Given the description of an element on the screen output the (x, y) to click on. 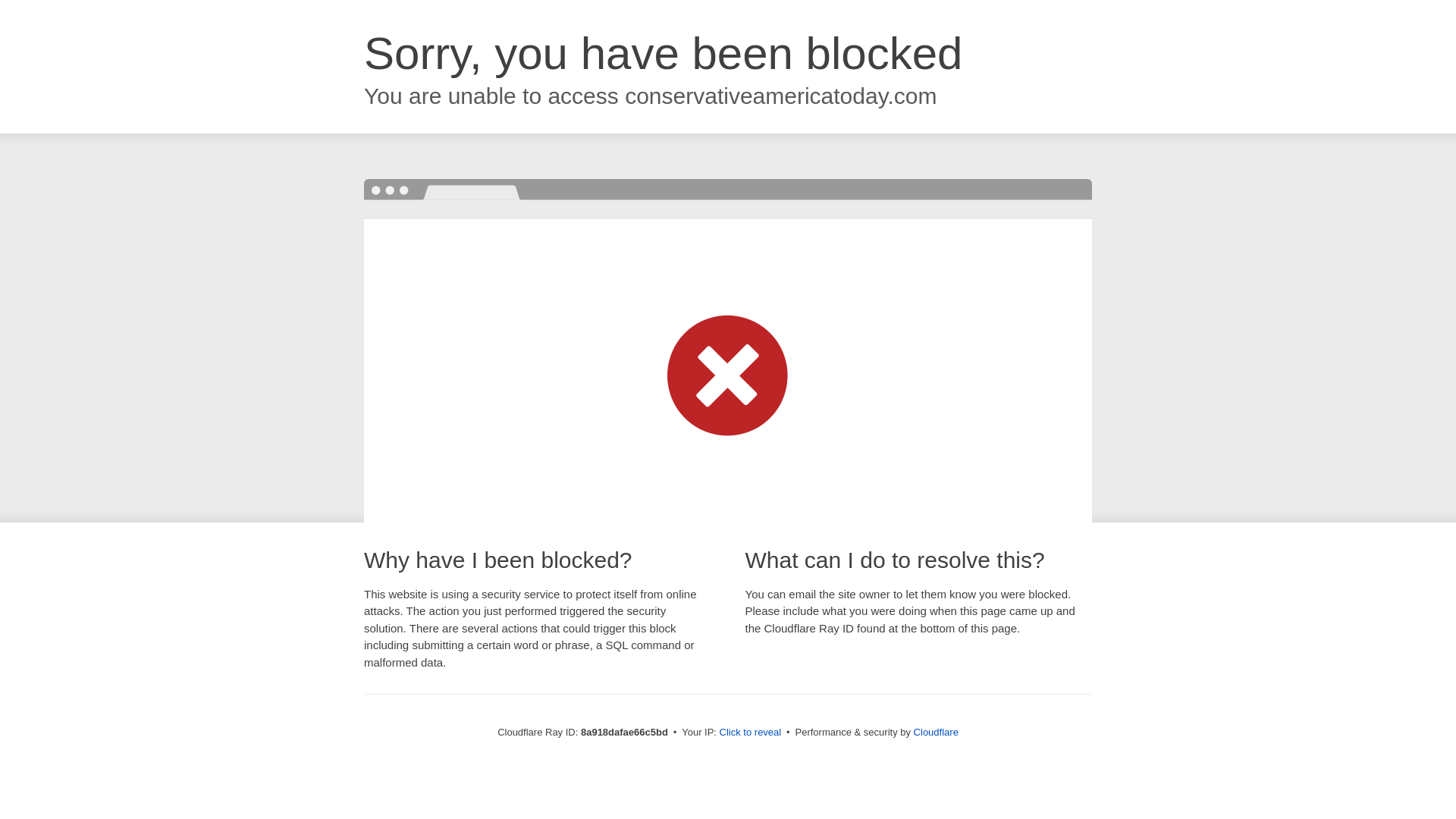
Click to reveal (750, 732)
Cloudflare (936, 731)
